Given the description of an element on the screen output the (x, y) to click on. 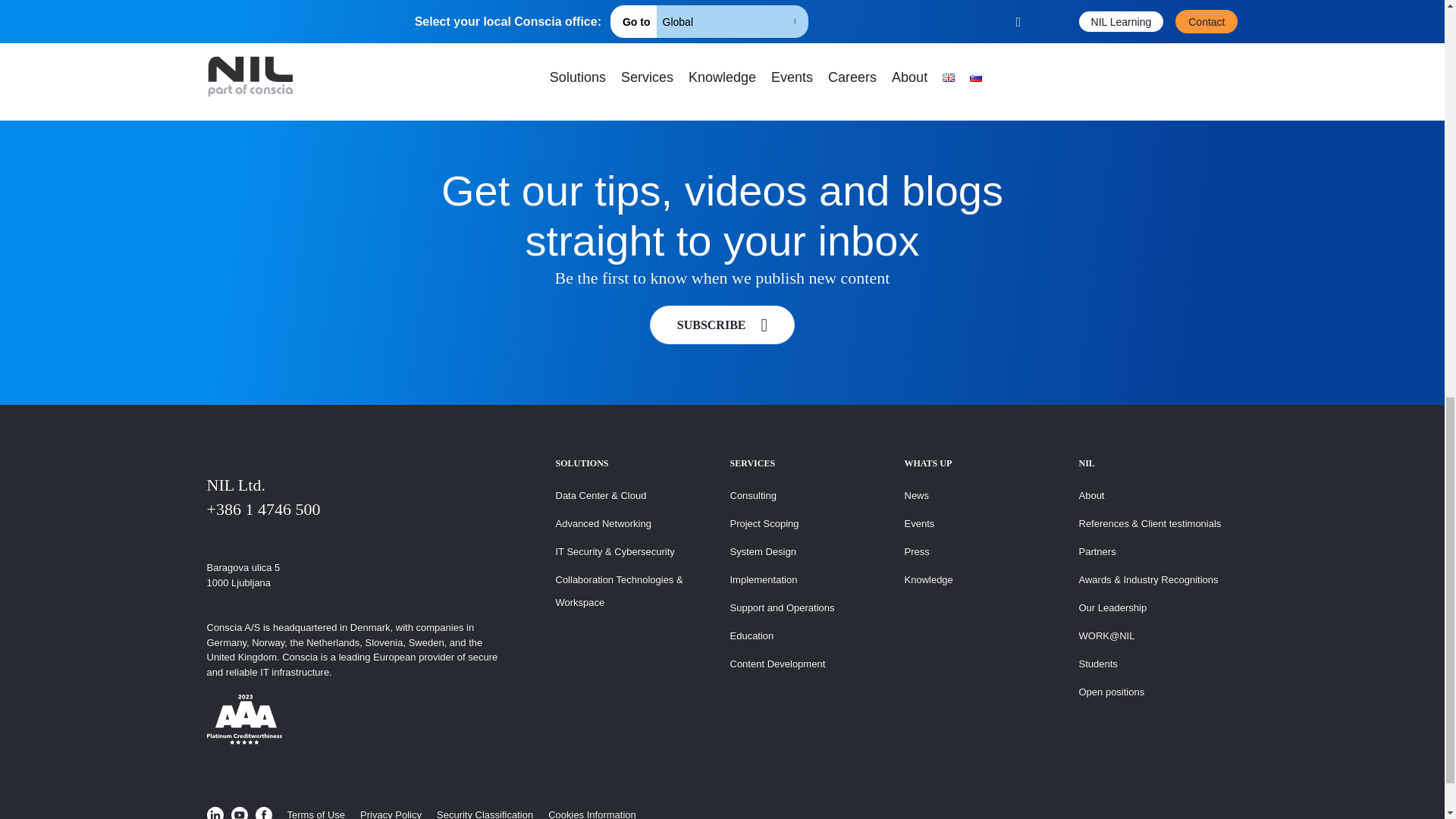
Youtube (238, 812)
Facebook (262, 812)
LinkedIn (214, 812)
